Given the description of an element on the screen output the (x, y) to click on. 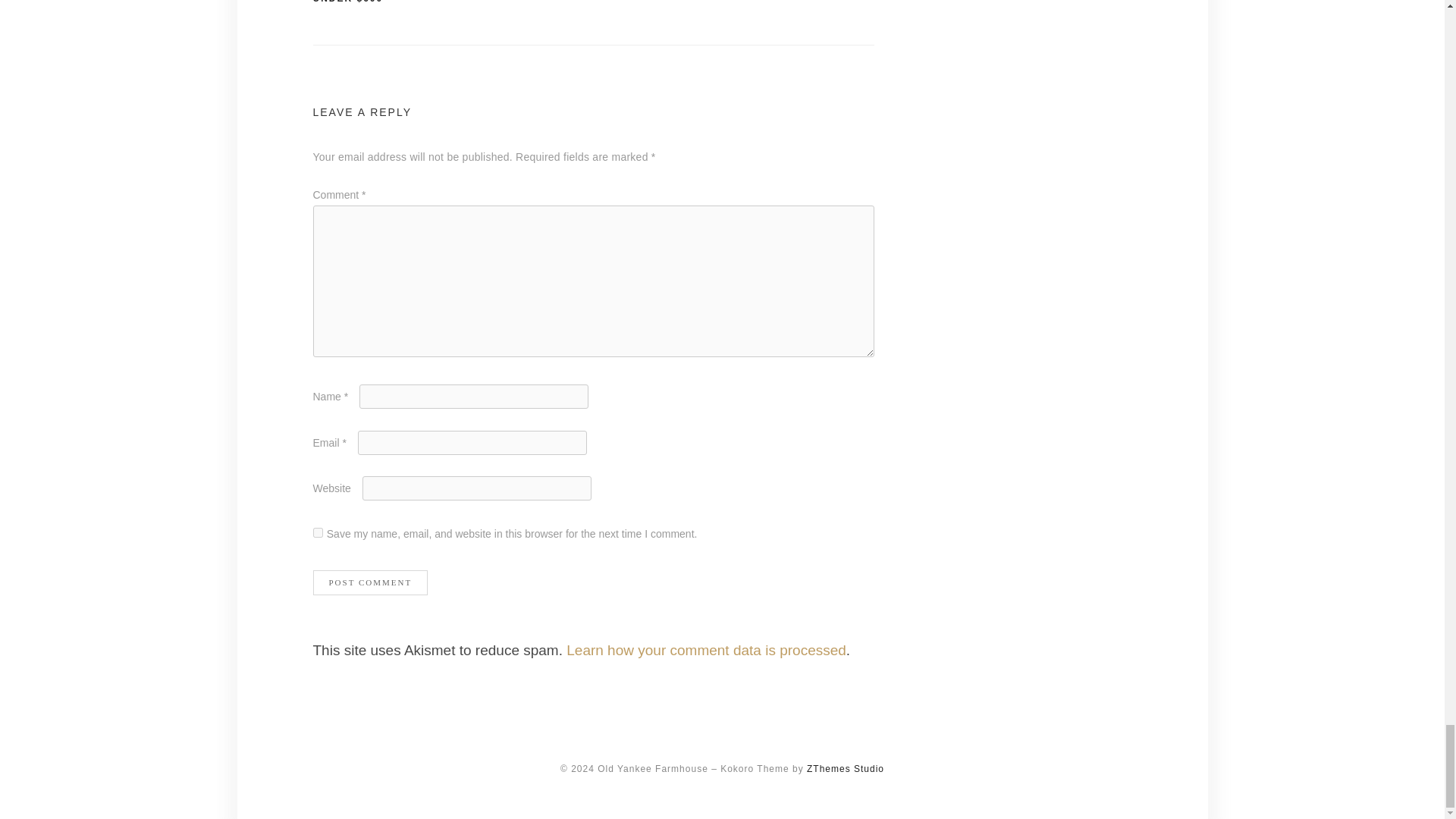
Post Comment (370, 582)
yes (317, 532)
Learn how your comment data is processed (705, 650)
Post Comment (370, 582)
